Given the description of an element on the screen output the (x, y) to click on. 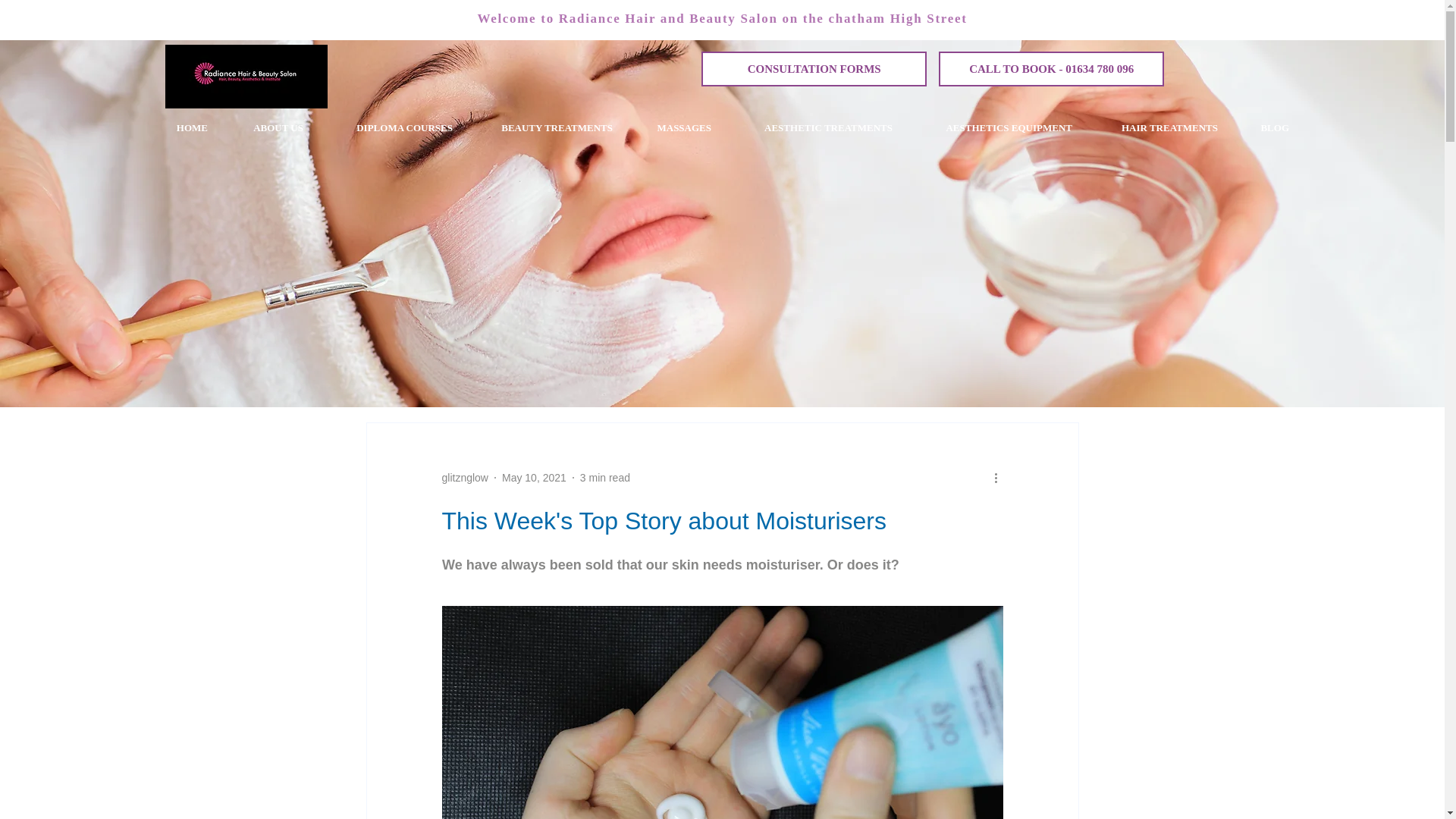
BEAUTY TREATMENTS (544, 127)
HOME (181, 127)
MASSAGES (673, 127)
AESTHETICS EQUIPMENT (993, 127)
May 10, 2021 (534, 477)
CONSULTATION FORMS (813, 68)
3 min read (604, 477)
glitznglow (464, 478)
glitznglow (464, 478)
DIPLOMA COURSES (389, 127)
